Given the description of an element on the screen output the (x, y) to click on. 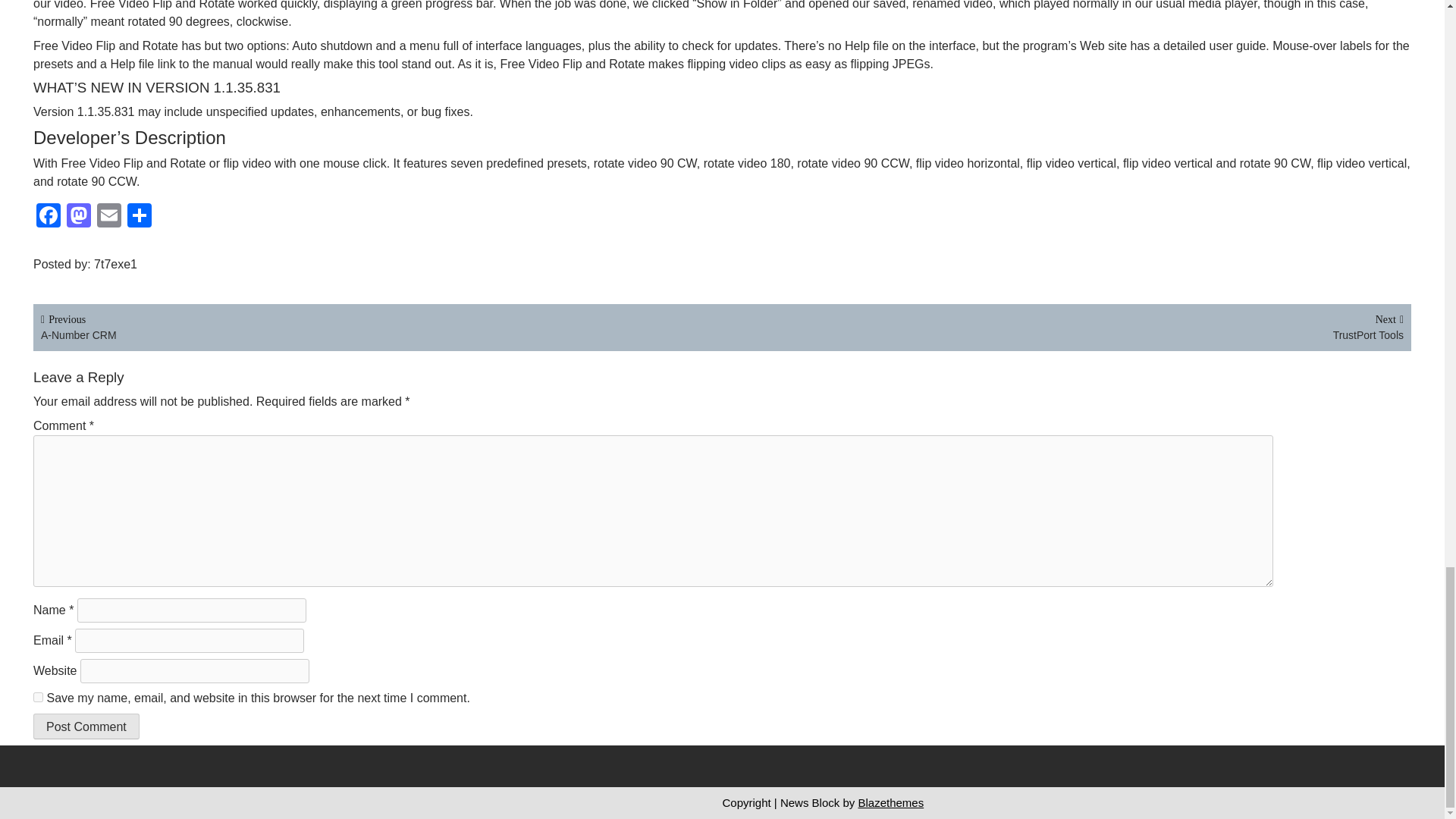
yes (38, 696)
Post Comment (86, 726)
Mastodon (79, 216)
Facebook (48, 216)
Post Comment (86, 726)
Mastodon (1062, 326)
Email (79, 216)
Facebook (108, 216)
7t7exe1 (48, 216)
